Given the description of an element on the screen output the (x, y) to click on. 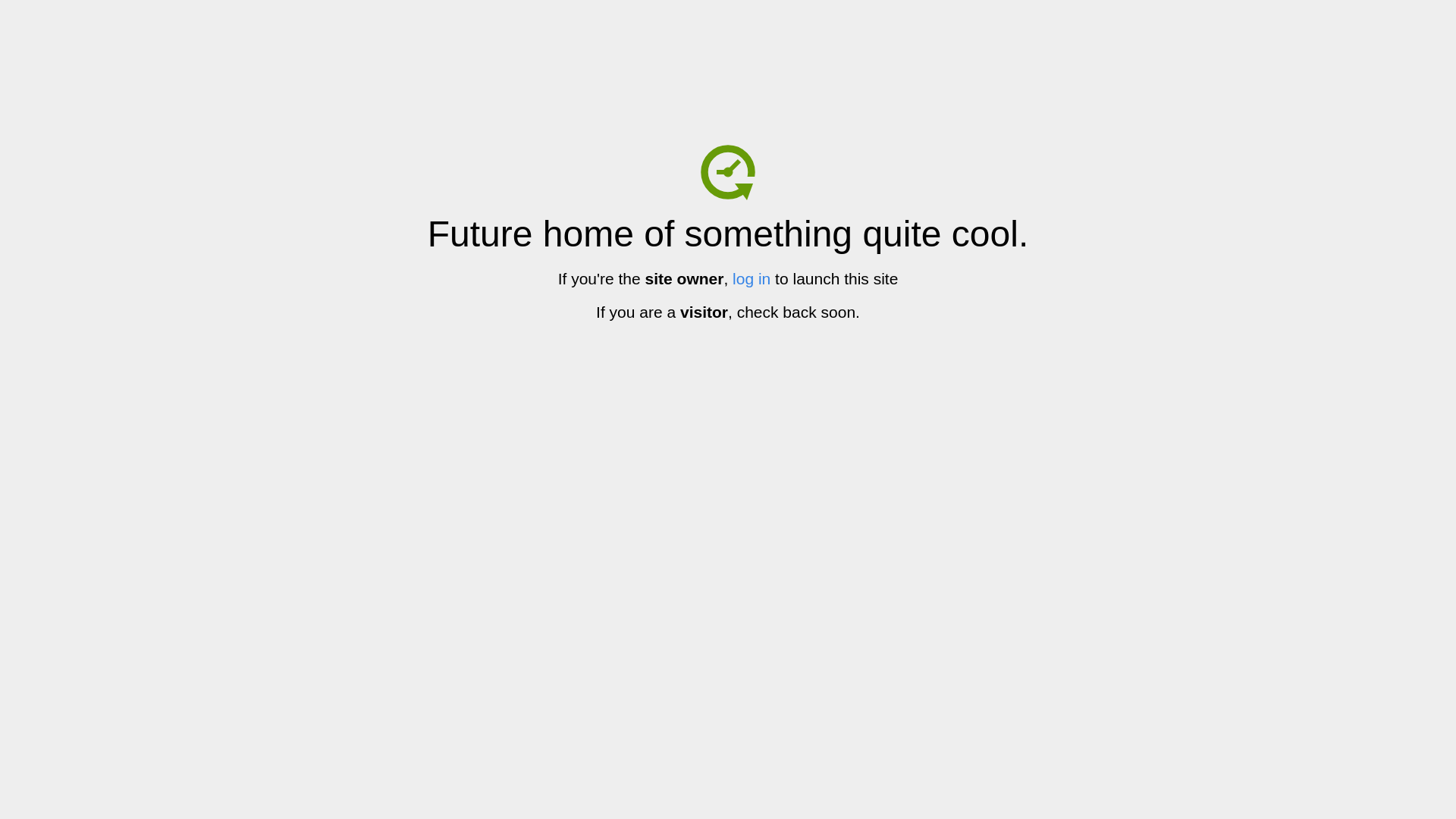
log in Element type: text (751, 278)
